Given the description of an element on the screen output the (x, y) to click on. 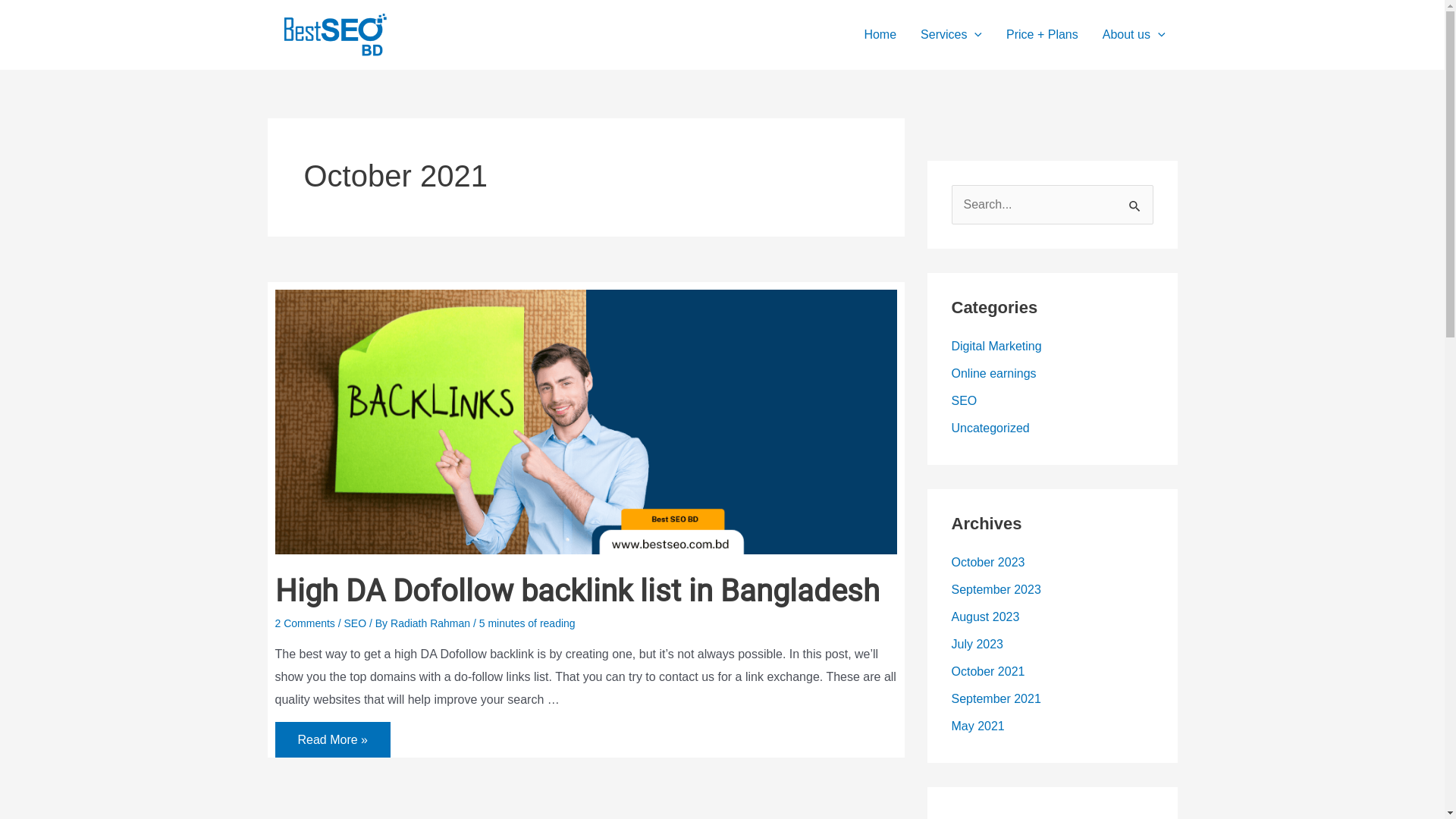
Services Element type: text (951, 34)
October 2021 Element type: text (987, 671)
SEO Element type: text (963, 400)
Digital Marketing Element type: text (995, 345)
High DA Dofollow backlink list in Bangladesh Element type: text (576, 590)
September 2021 Element type: text (995, 698)
Uncategorized Element type: text (989, 427)
Radiath Rahman Element type: text (431, 623)
July 2023 Element type: text (976, 643)
Price + Plans Element type: text (1042, 34)
October 2023 Element type: text (987, 561)
SEO Element type: text (355, 623)
Home Element type: text (879, 34)
Search Element type: text (1136, 200)
Online earnings Element type: text (992, 373)
September 2023 Element type: text (995, 589)
May 2021 Element type: text (977, 725)
2 Comments Element type: text (304, 623)
About us Element type: text (1133, 34)
August 2023 Element type: text (984, 616)
